Given the description of an element on the screen output the (x, y) to click on. 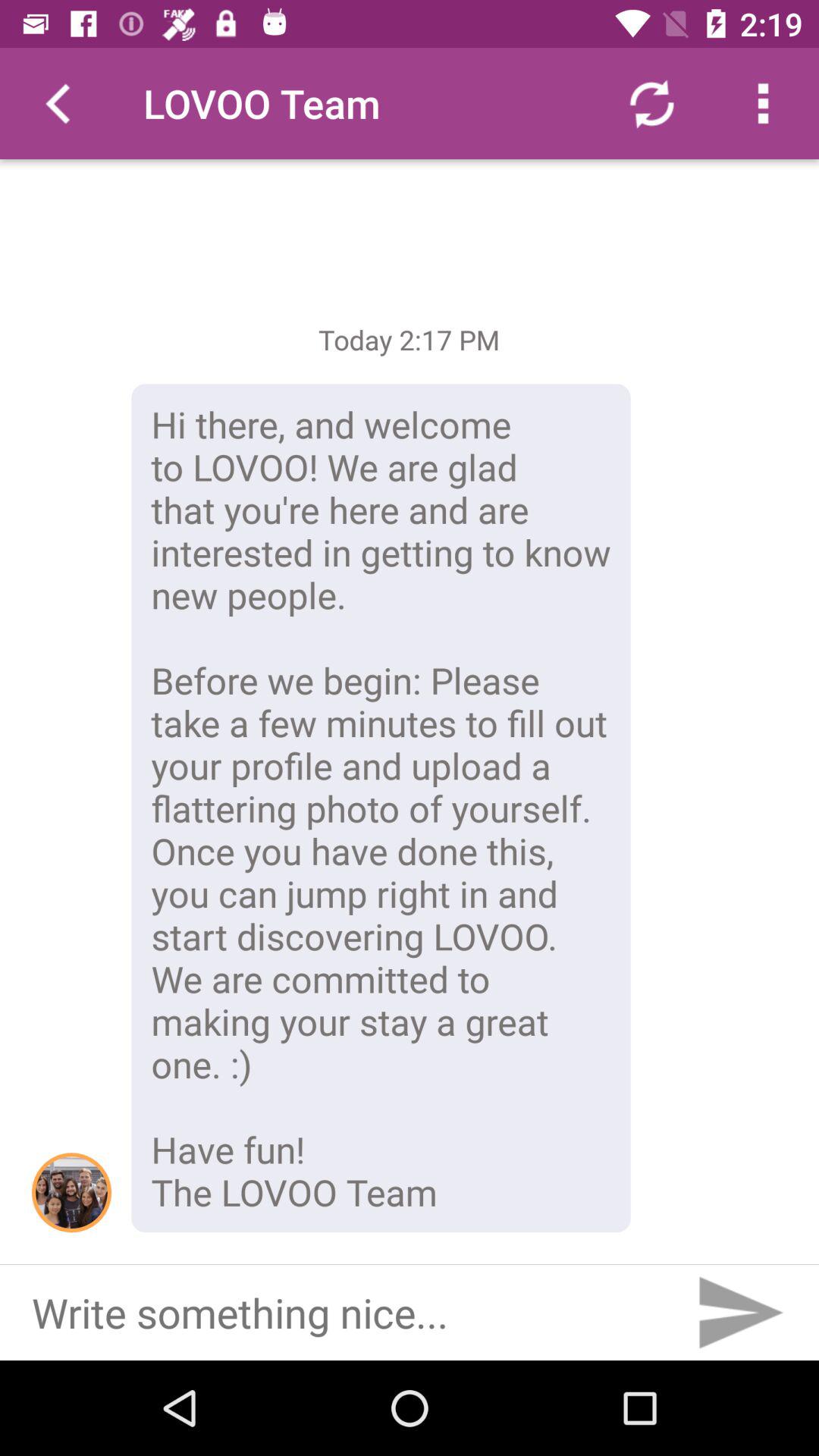
tap the item to the left of the hi there and icon (71, 1192)
